Given the description of an element on the screen output the (x, y) to click on. 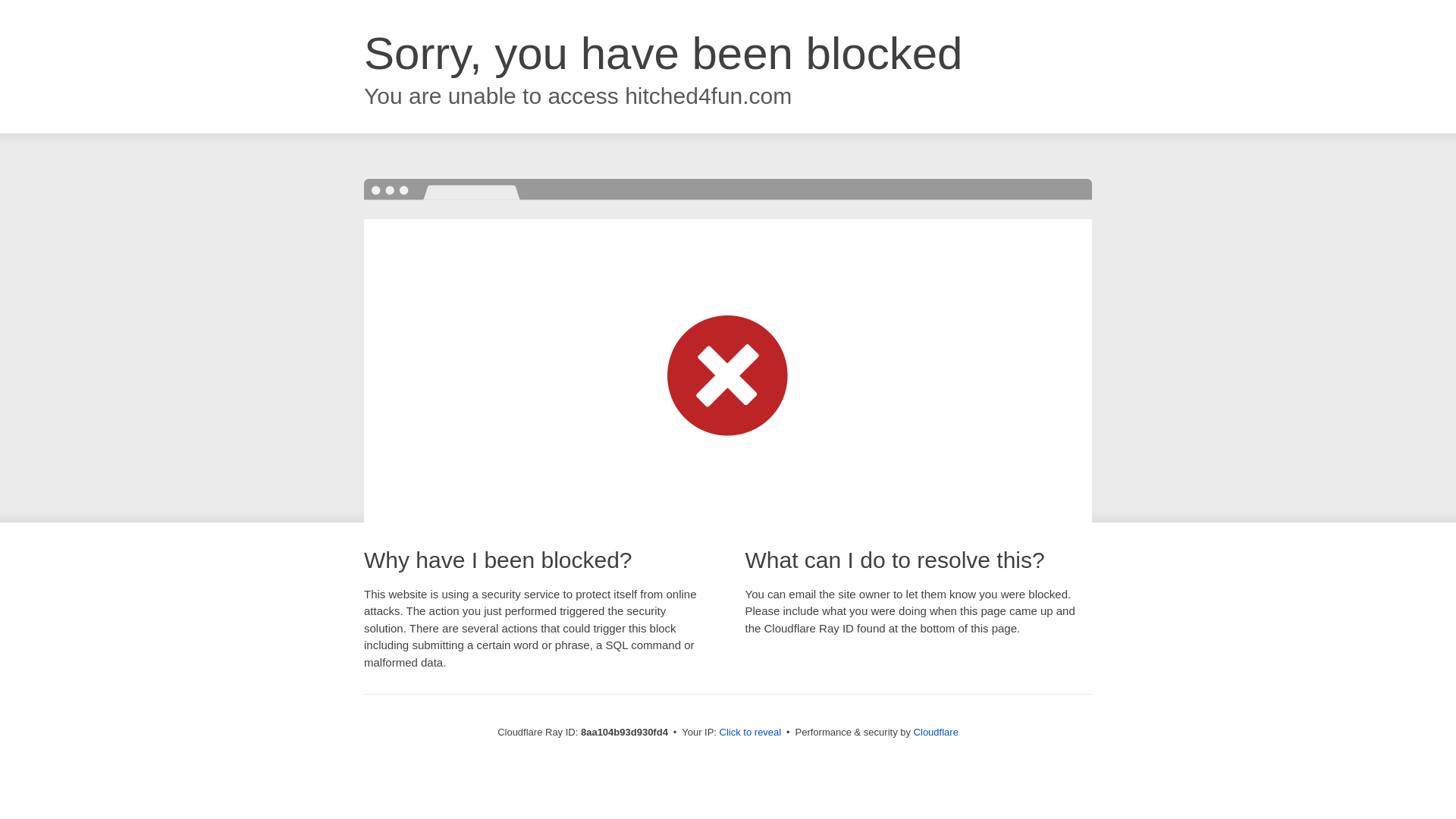
Cloudflare (936, 731)
Click to reveal (750, 732)
